Given the description of an element on the screen output the (x, y) to click on. 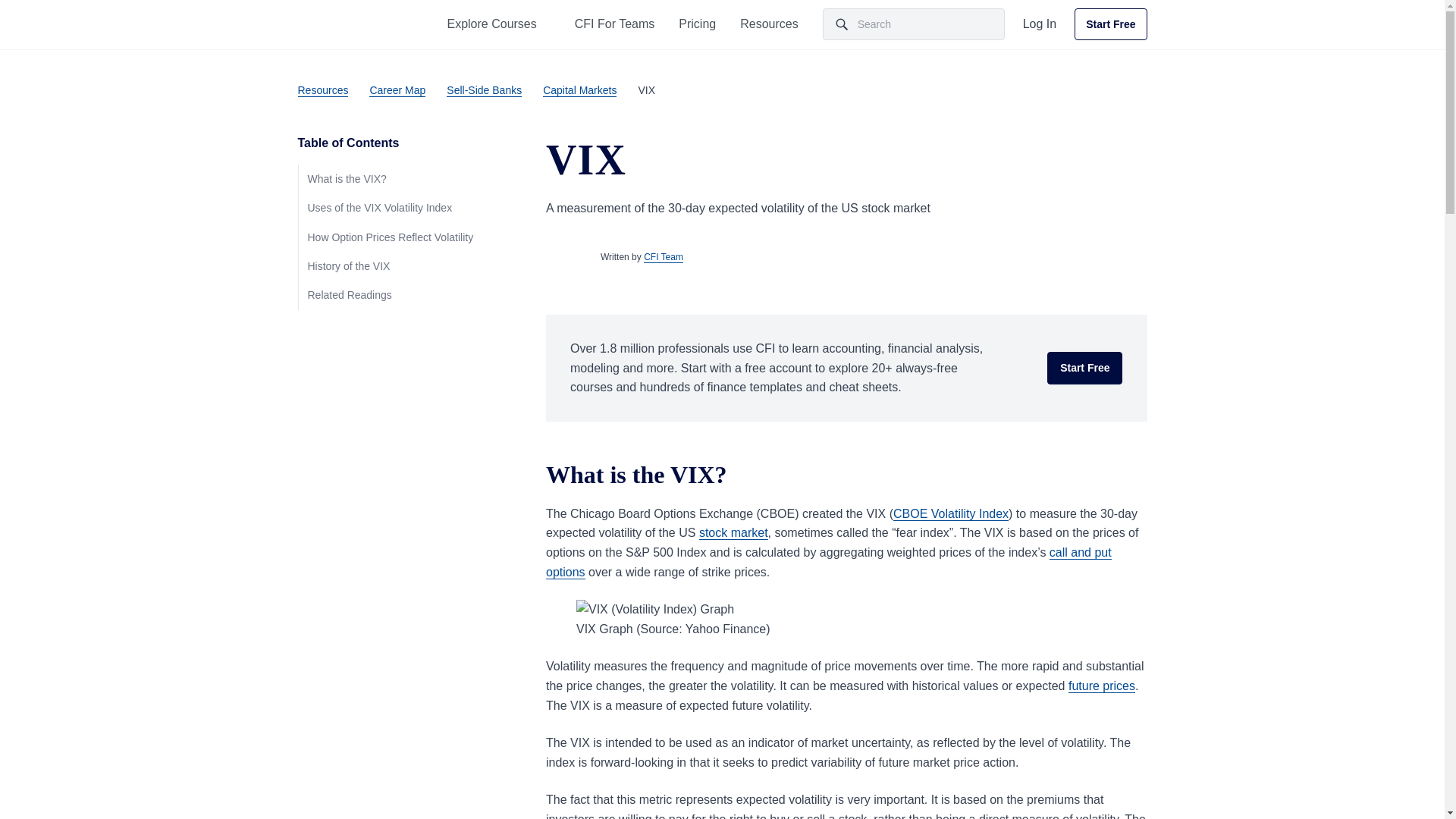
Go to the Capital Markets Resource Type archives. (579, 89)
Go to the Career Map Resource Type archives. (397, 89)
Go to the Sell-Side Banks Resource Type archives. (483, 89)
Go to Resources. (322, 89)
Corporate Finance Institute (337, 23)
